Given the description of an element on the screen output the (x, y) to click on. 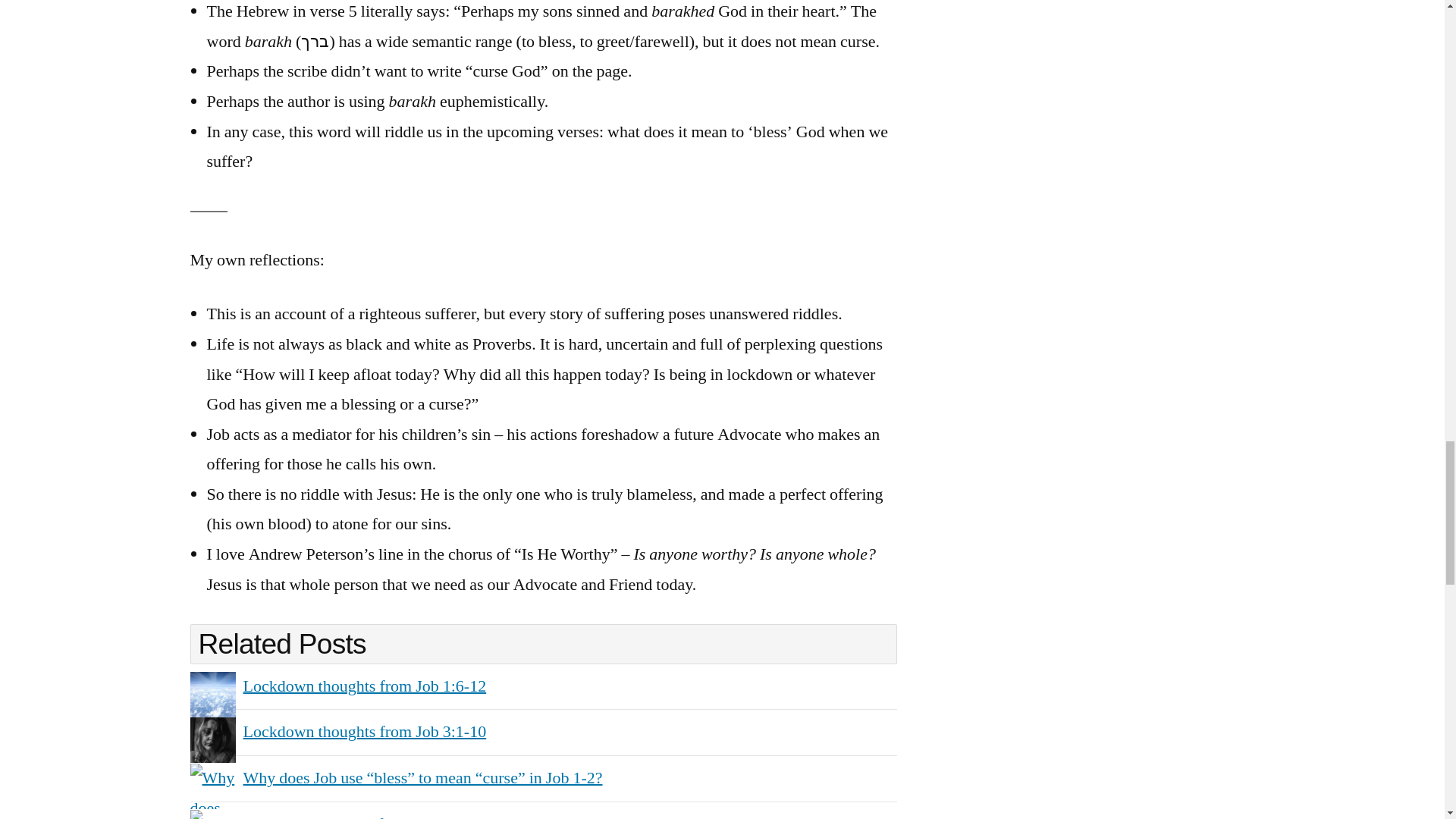
Job 23-24: Looking for God (336, 816)
Lockdown thoughts from Job 3:1-10 (364, 731)
Lockdown thoughts from Job 1:6-12 (364, 685)
